Given the description of an element on the screen output the (x, y) to click on. 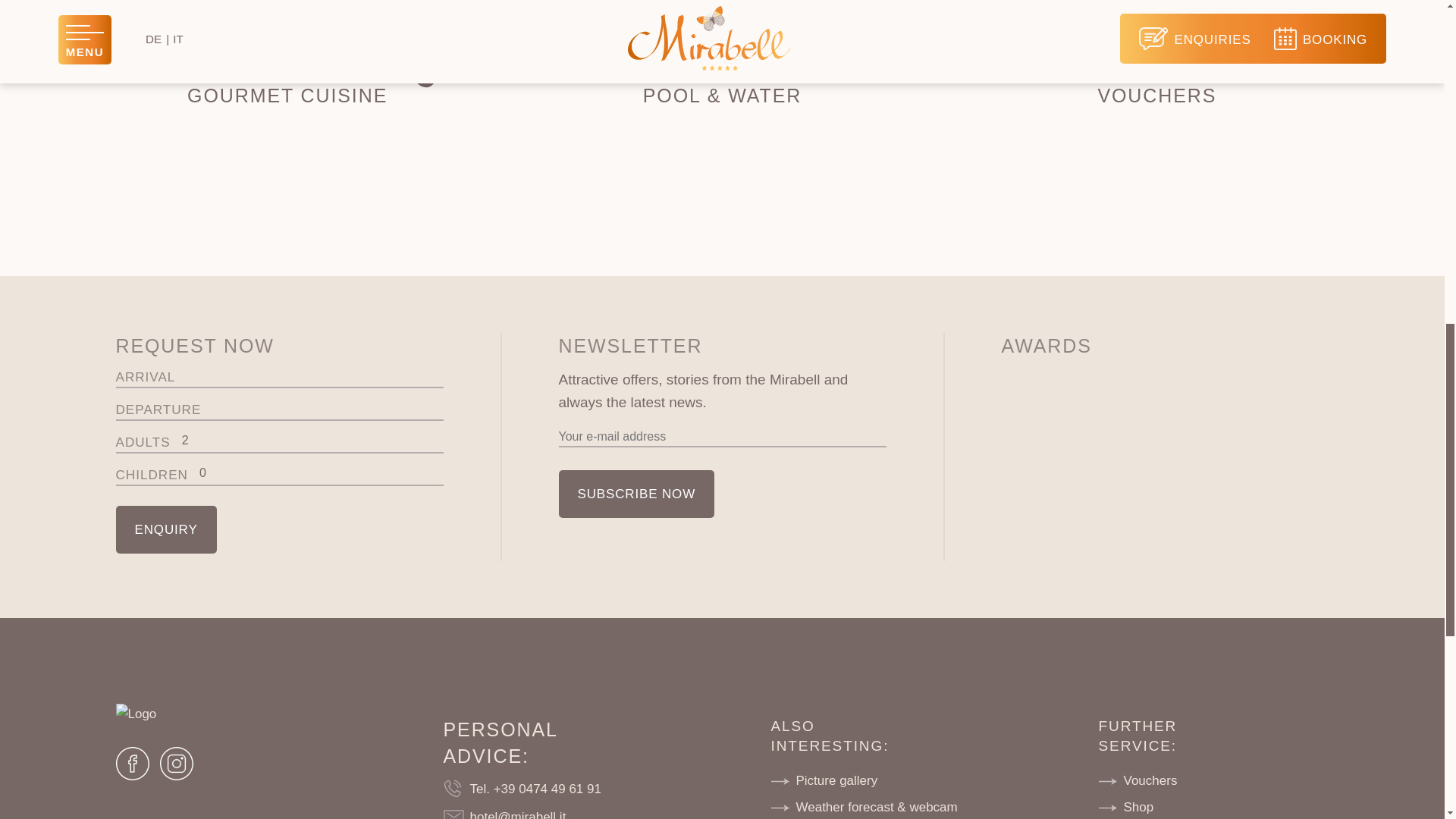
2 (313, 440)
0 (321, 473)
